Given the description of an element on the screen output the (x, y) to click on. 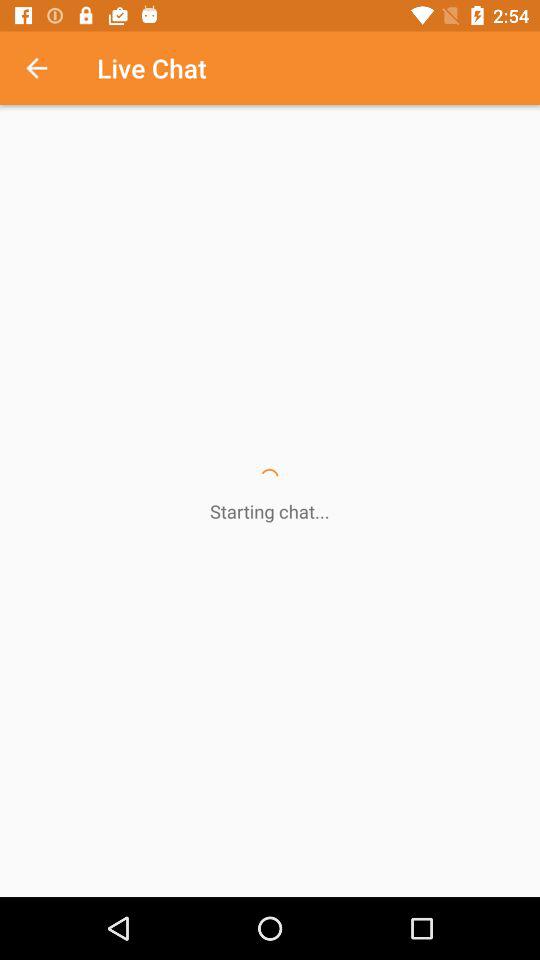
turn on item at the top left corner (47, 68)
